Given the description of an element on the screen output the (x, y) to click on. 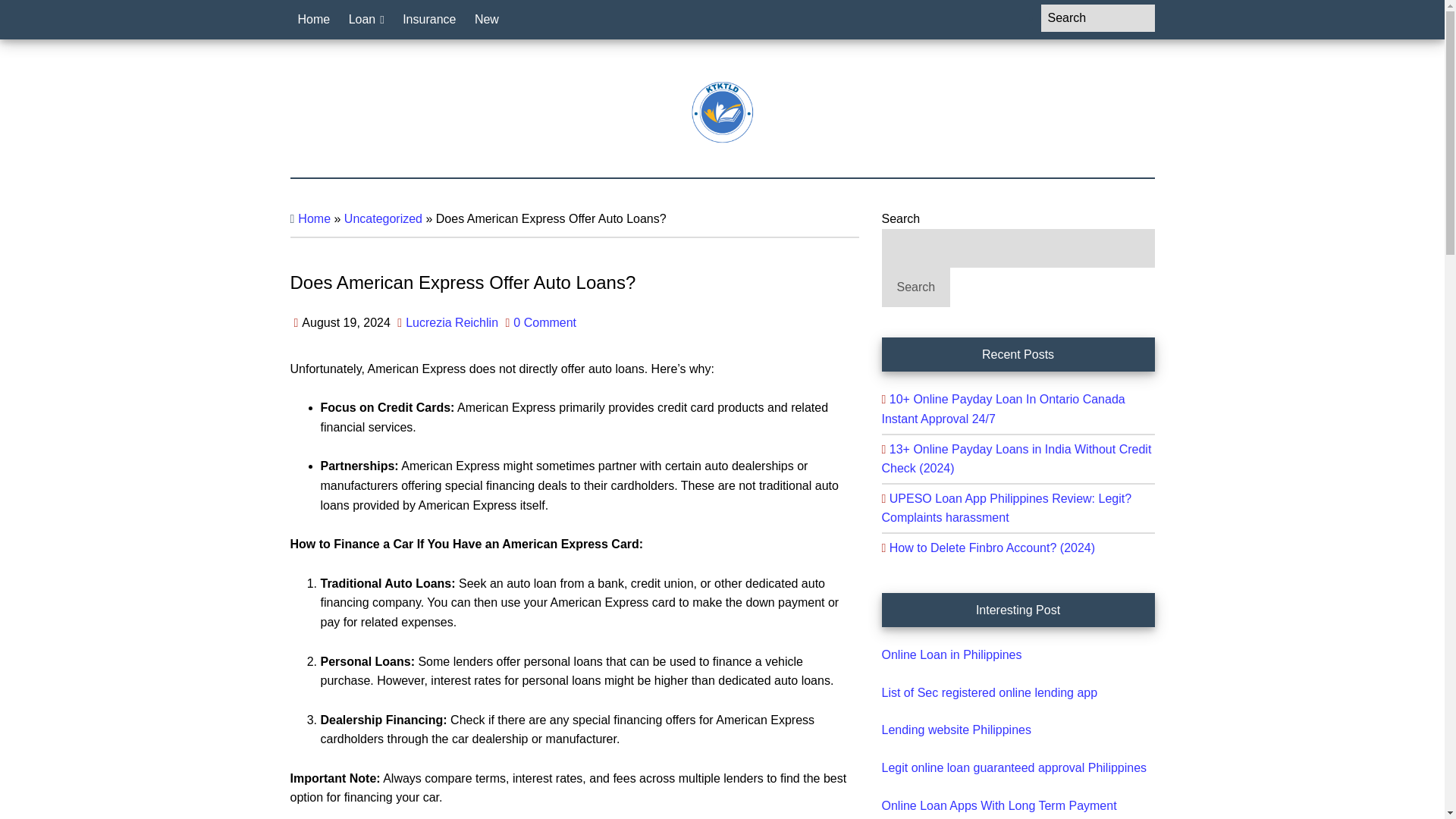
Uncategorized (382, 218)
Ktktld (721, 112)
Lending website Philippines (955, 729)
Lucrezia Reichlin (451, 322)
Home (314, 218)
New (486, 19)
0 Comment (544, 322)
List of Sec registered online lending app (988, 692)
Legit online loan guaranteed approval Philippines (1013, 767)
Search (915, 287)
